Given the description of an element on the screen output the (x, y) to click on. 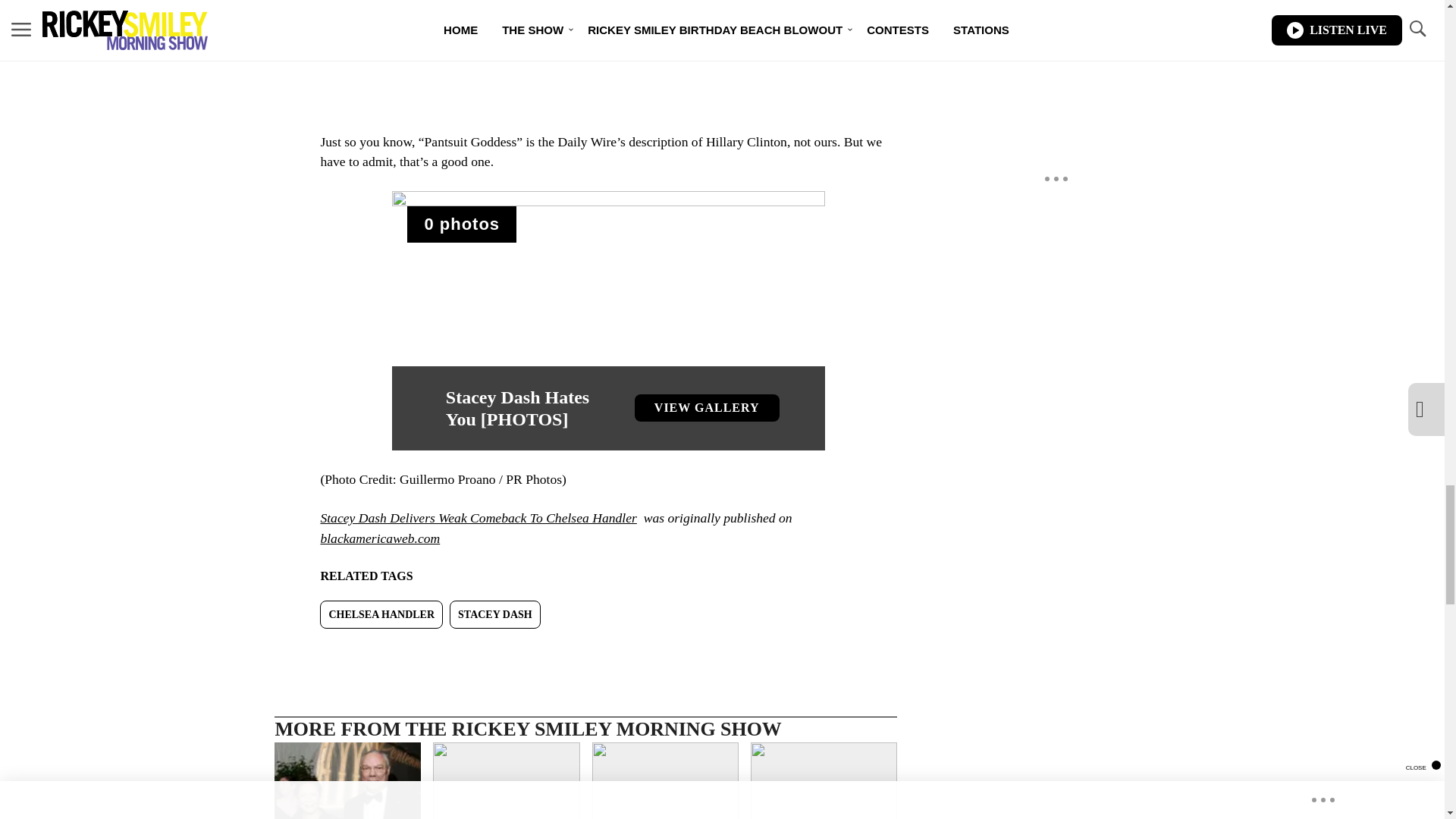
blackamericaweb.com (379, 538)
Stacey Dash Delivers Weak Comeback To Chelsea Handler (478, 517)
STACEY DASH (494, 614)
President Biden To Drop Out Of Presidential Race (664, 780)
20 Biracial Celebrities Often Mistaken As Being Only White (823, 780)
Actress Erica Ash Died at 46 (505, 780)
Media Playlist (461, 224)
CHELSEA HANDLER (381, 614)
